Given the description of an element on the screen output the (x, y) to click on. 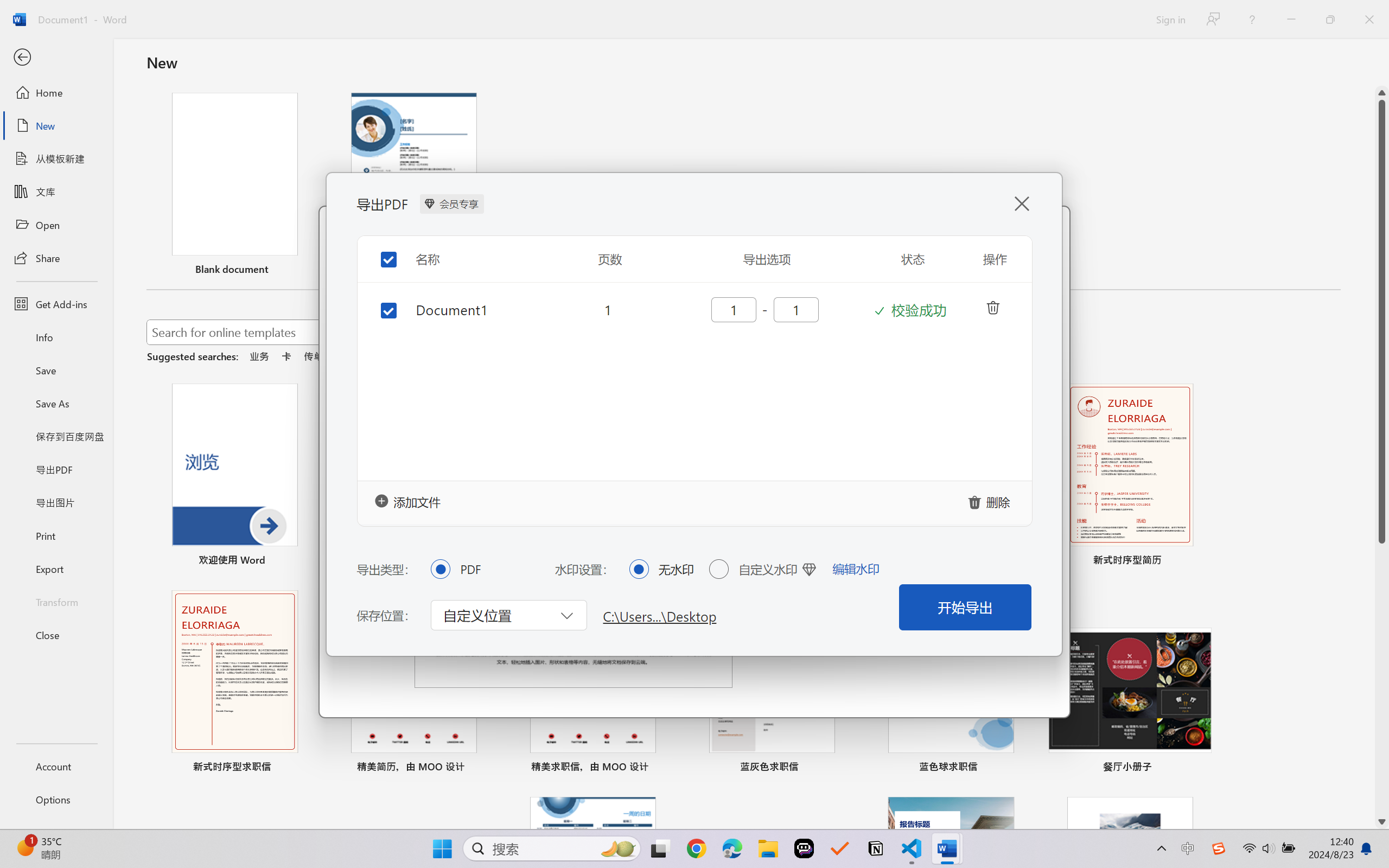
PDF (440, 568)
Line down (1382, 821)
Info (56, 337)
select row (380, 301)
